Given the description of an element on the screen output the (x, y) to click on. 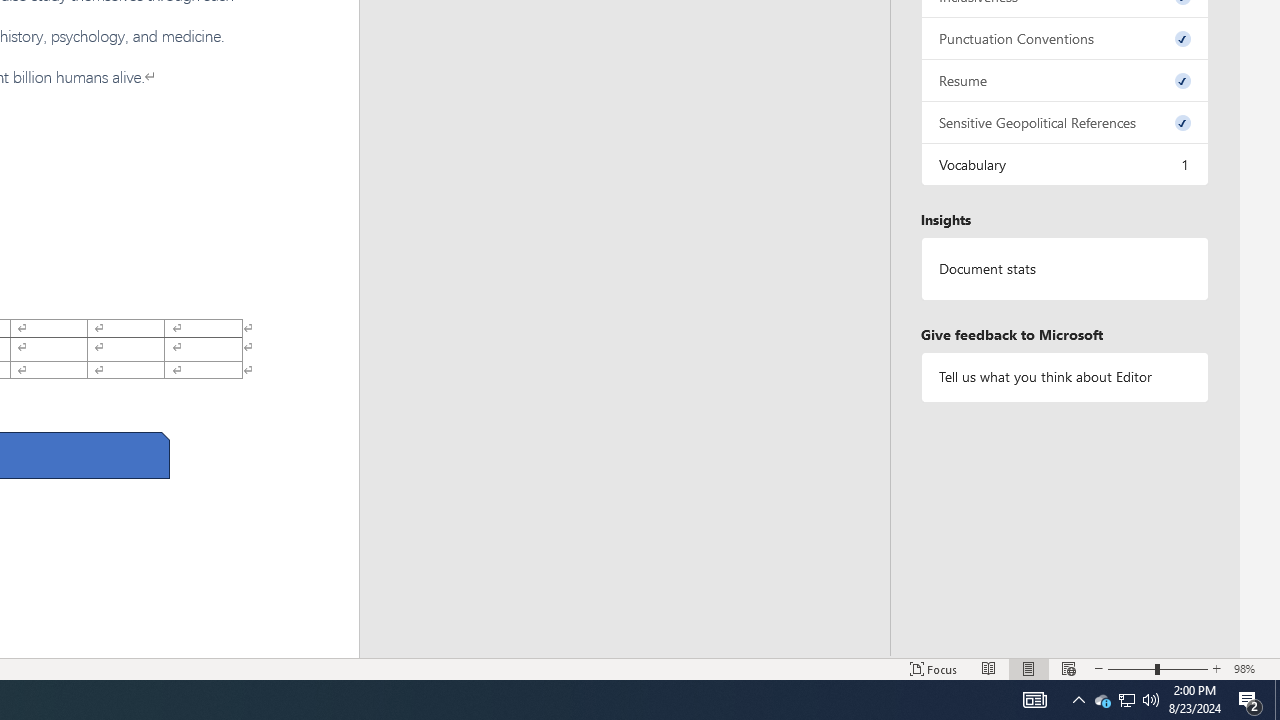
Vocabulary, 1 issue. Press space or enter to review items. (1064, 164)
Resume, 0 issues. Press space or enter to review items. (1064, 79)
Tell us what you think about Editor (1064, 376)
Document statistics (1064, 269)
